Given the description of an element on the screen output the (x, y) to click on. 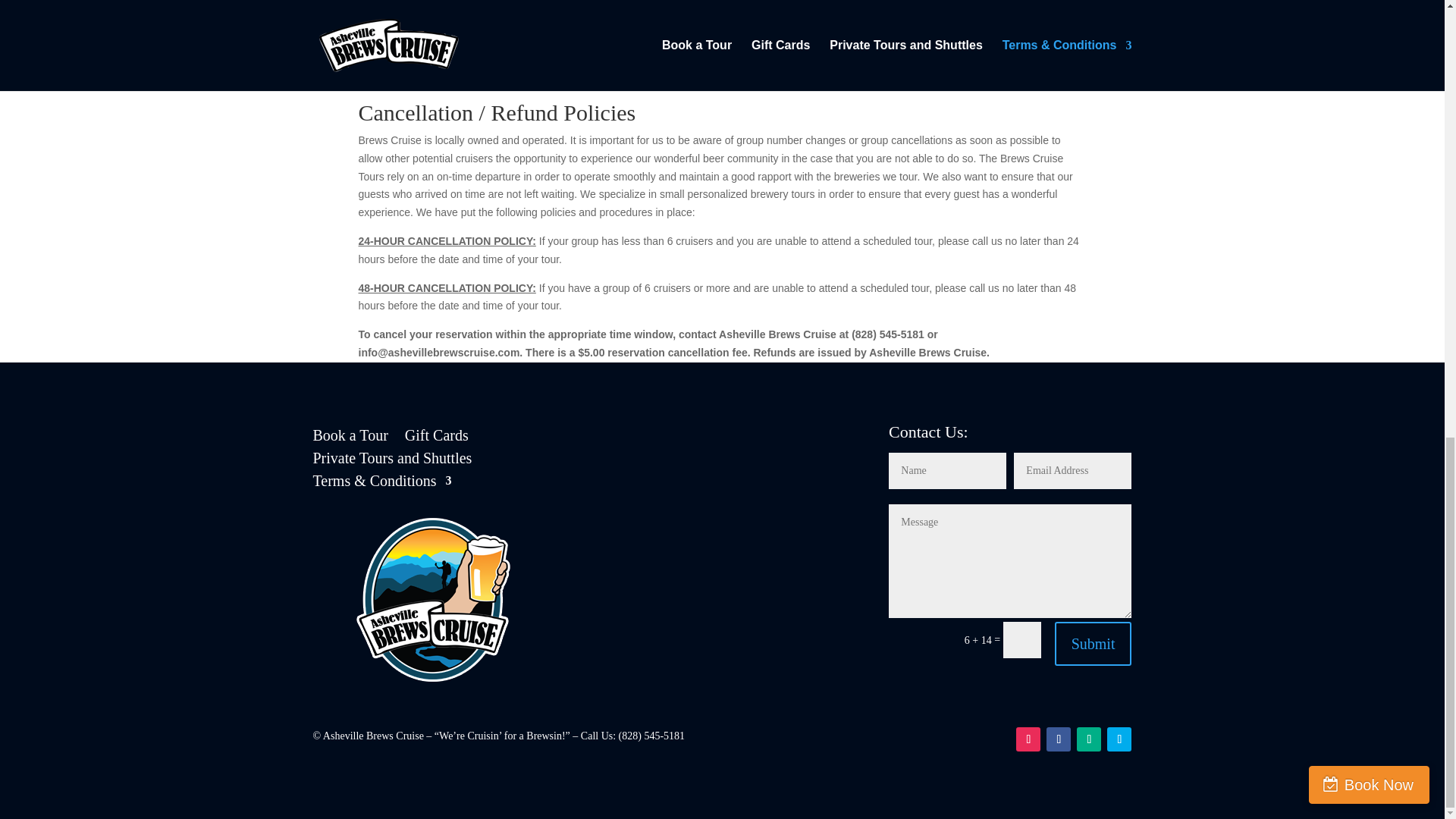
Private Tours and Shuttles (392, 460)
Follow on TripAdvisor (1088, 739)
Submit (1093, 643)
LOGO-ASHEVILLEBREWSCRUISE (434, 600)
Follow on Twitter (1118, 739)
Follow on Instagram (1028, 739)
Gift Cards (436, 437)
Follow on Facebook (1058, 739)
Book a Tour (350, 437)
